Given the description of an element on the screen output the (x, y) to click on. 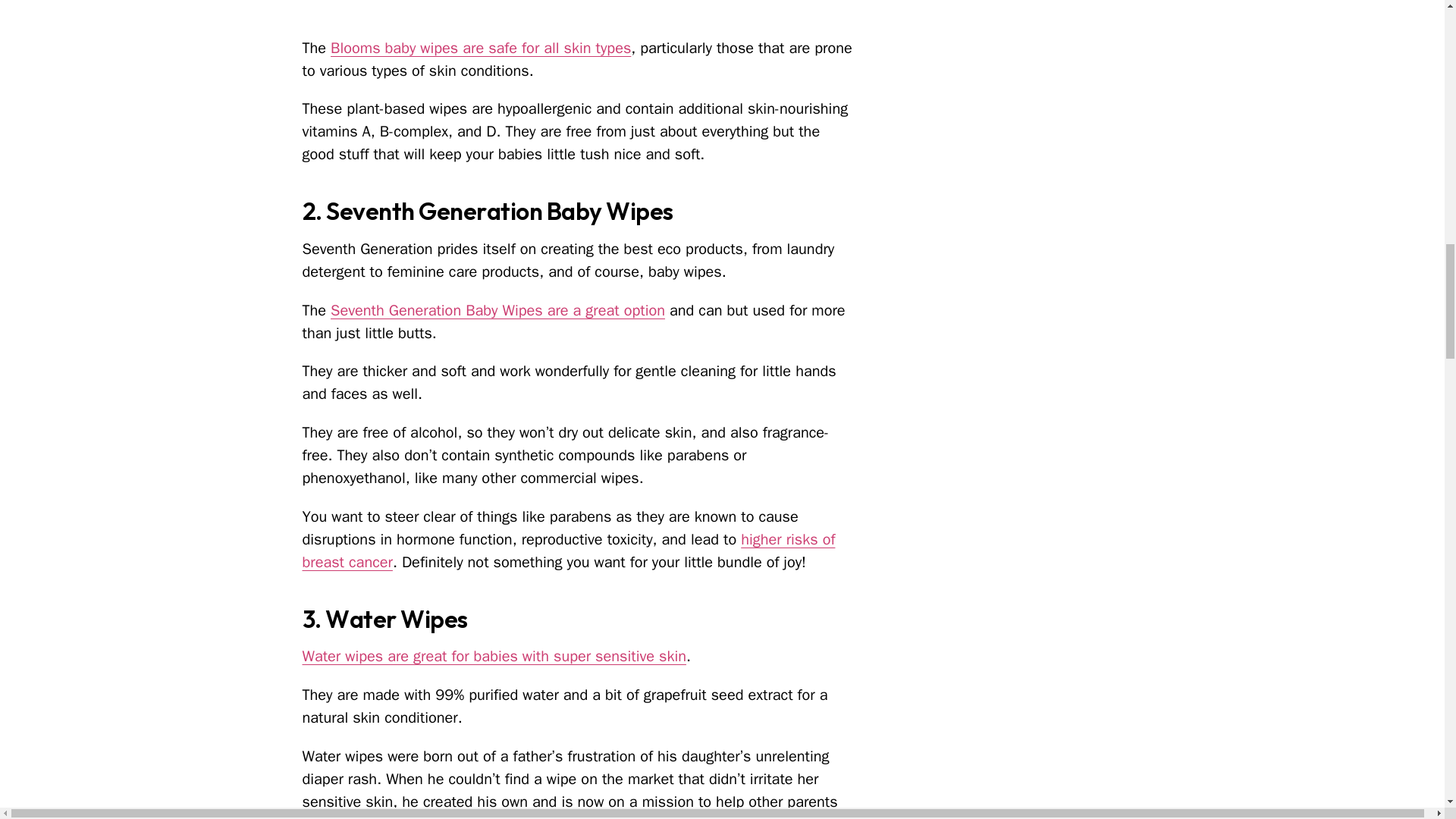
Seventh Generation Baby Wipes are a great option (497, 310)
higher risks of breast cancer (567, 550)
Water wipes are great for babies with super sensitive skin (493, 656)
Blooms baby wipes are safe for all skin types (480, 47)
